Given the description of an element on the screen output the (x, y) to click on. 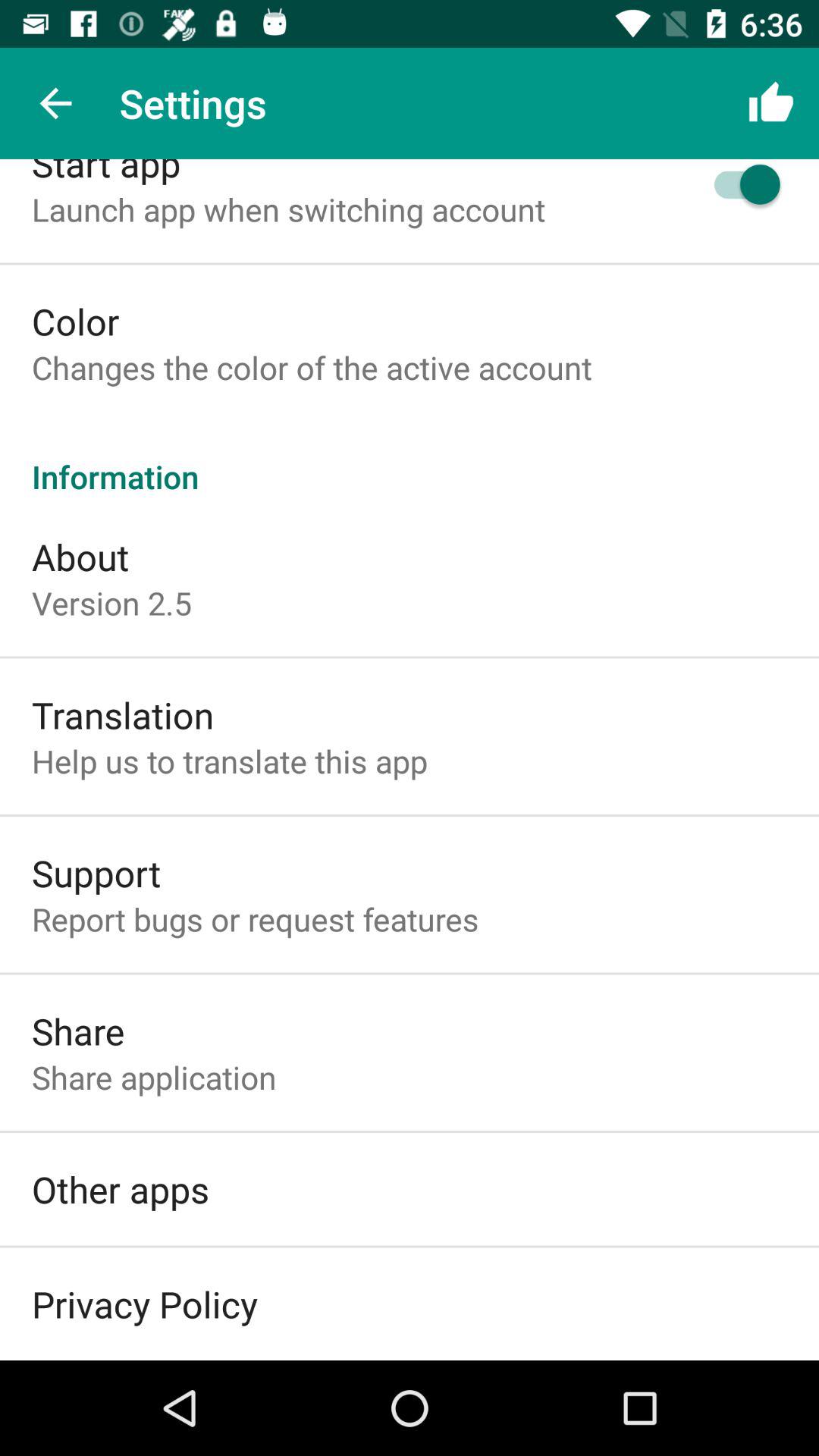
swipe to the share application item (153, 1076)
